Given the description of an element on the screen output the (x, y) to click on. 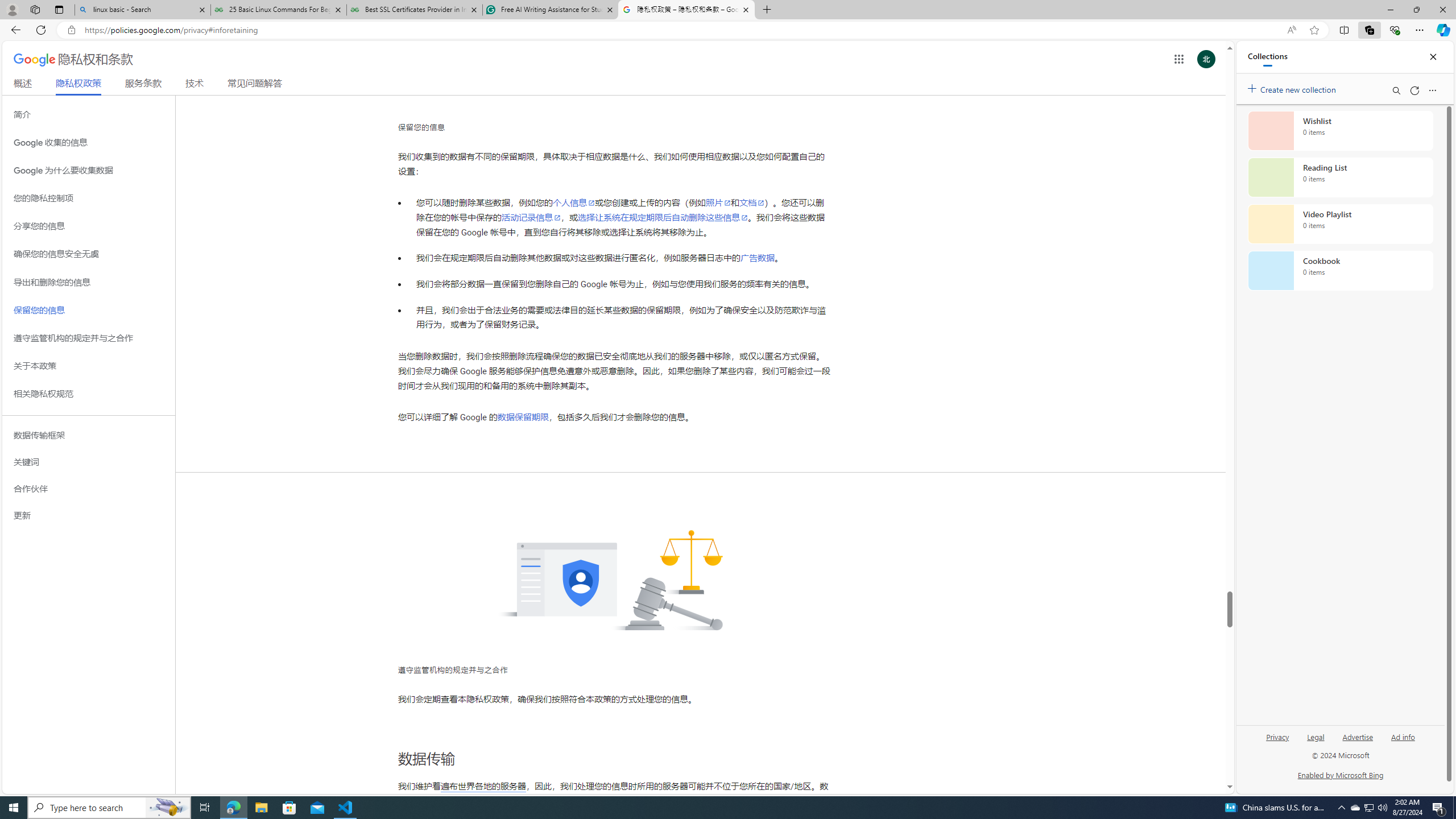
More options menu (1432, 90)
